Given the description of an element on the screen output the (x, y) to click on. 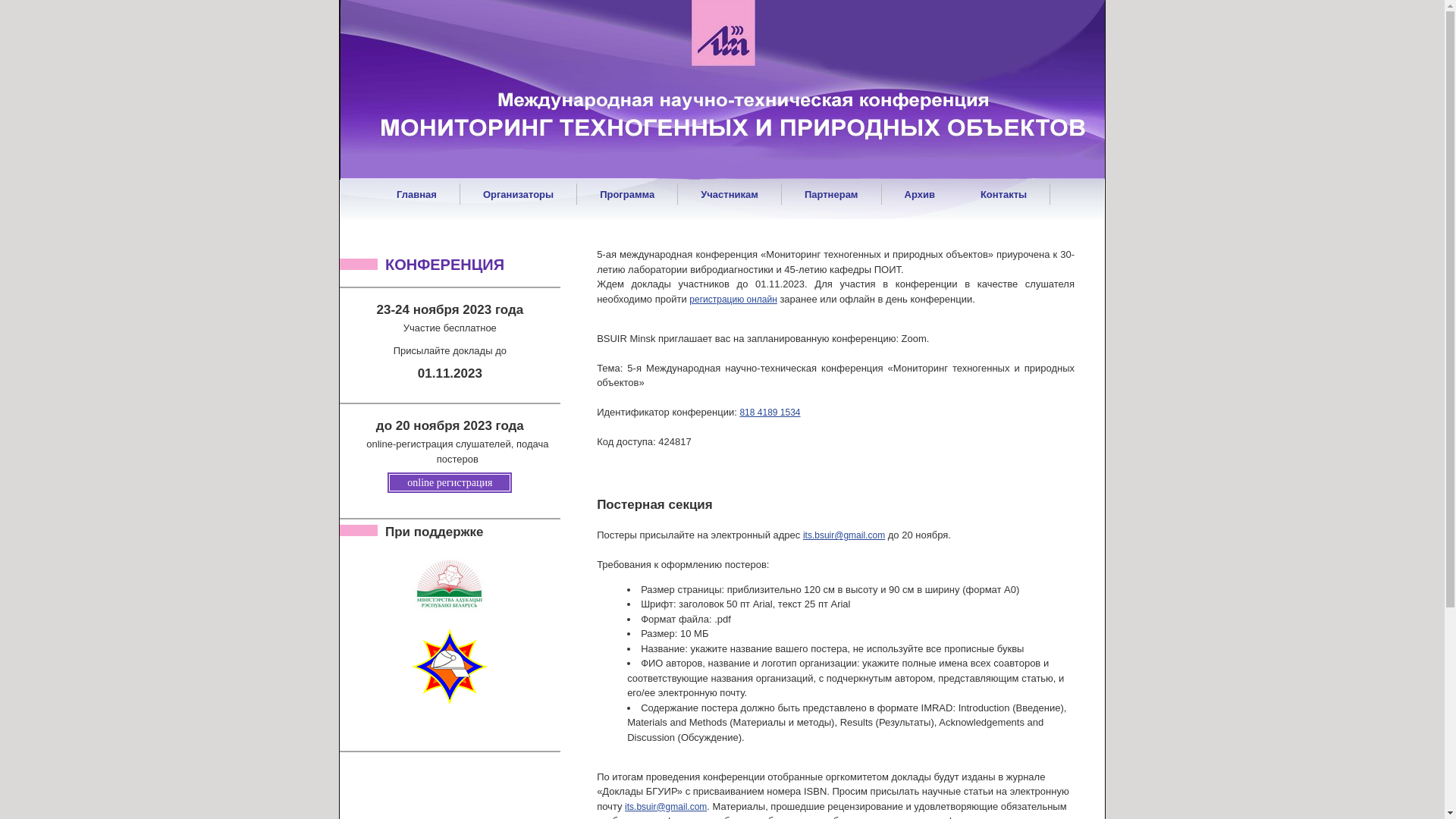
its.bsuir@gmail.com Element type: text (665, 806)
its.bsuir@gmail.com Element type: text (843, 535)
818 4189 1534 Element type: text (769, 412)
